Given the description of an element on the screen output the (x, y) to click on. 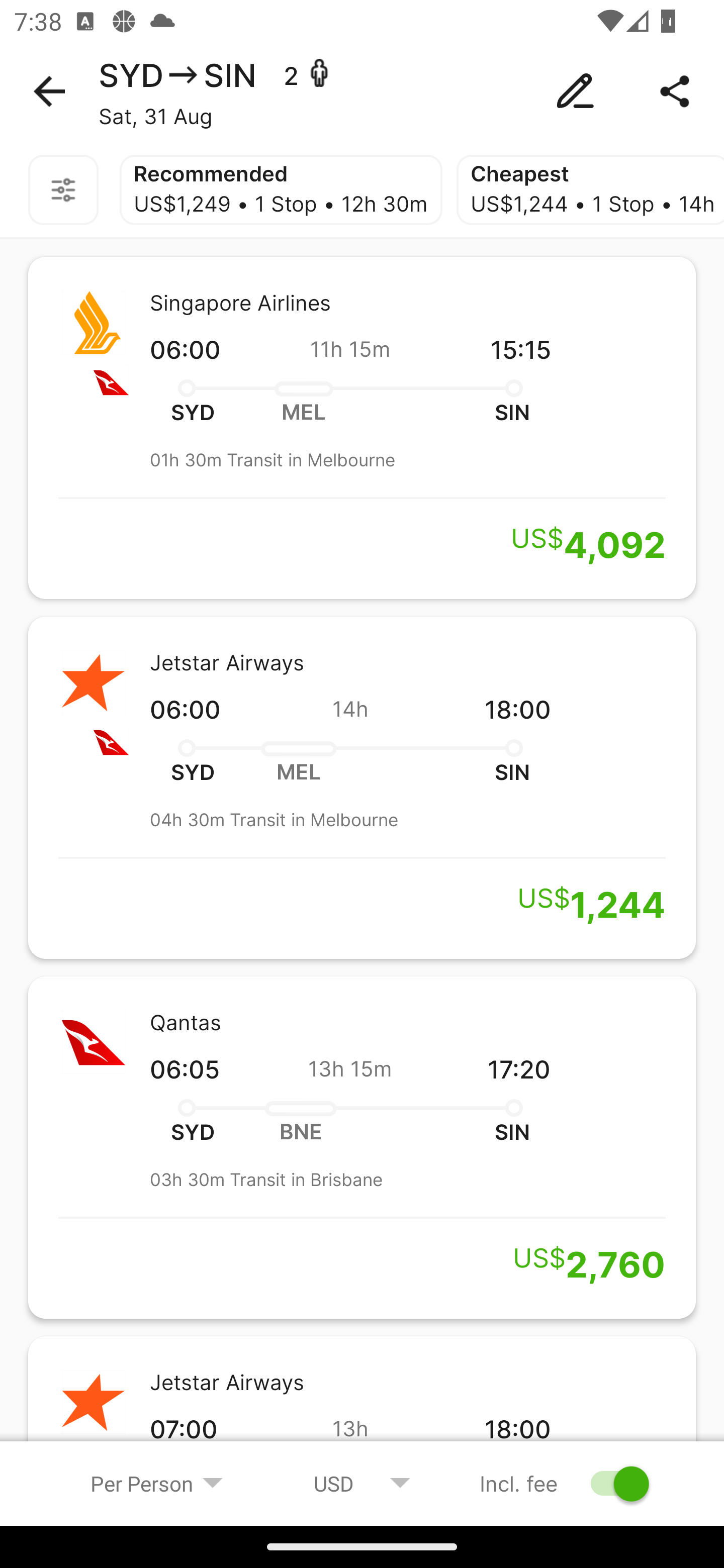
SYD SIN   2 - Sat, 31 Aug (361, 91)
Recommended  US$1,249 • 1 Stop • 12h 30m (280, 190)
Cheapest US$1,244 • 1 Stop • 14h (590, 190)
Jetstar Airways 07:00 13h 18:00 SYD MEL SIN (361, 1409)
Per Person (156, 1482)
USD (361, 1482)
